Given the description of an element on the screen output the (x, y) to click on. 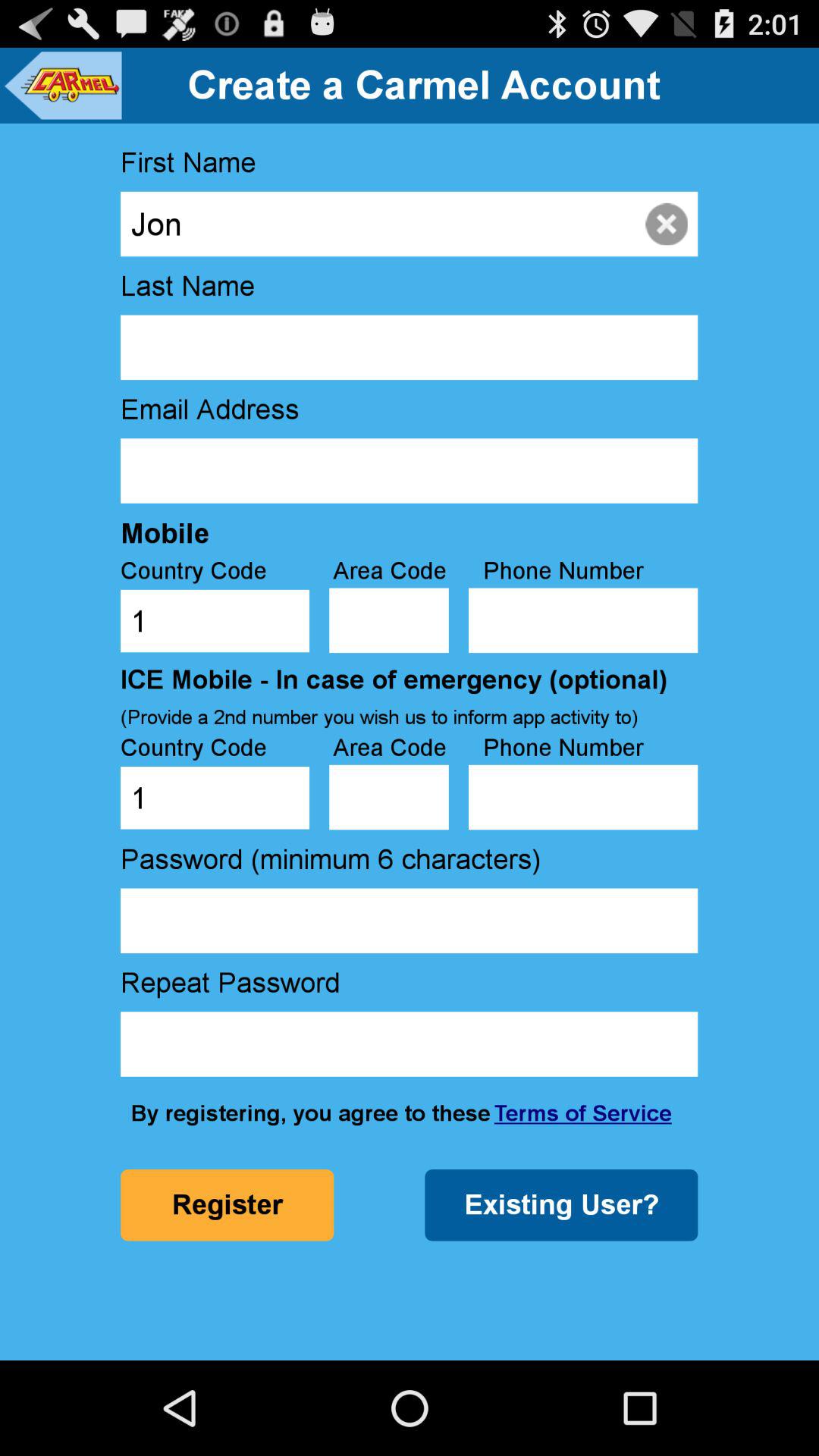
select text field with number 1 which is above ice mobile (214, 620)
click on text box which is below the passwordminimum 6 characters (408, 920)
go to existing user (561, 1205)
click on the country code text box below the ice mobilein case of emergency  optional (214, 798)
